Given the description of an element on the screen output the (x, y) to click on. 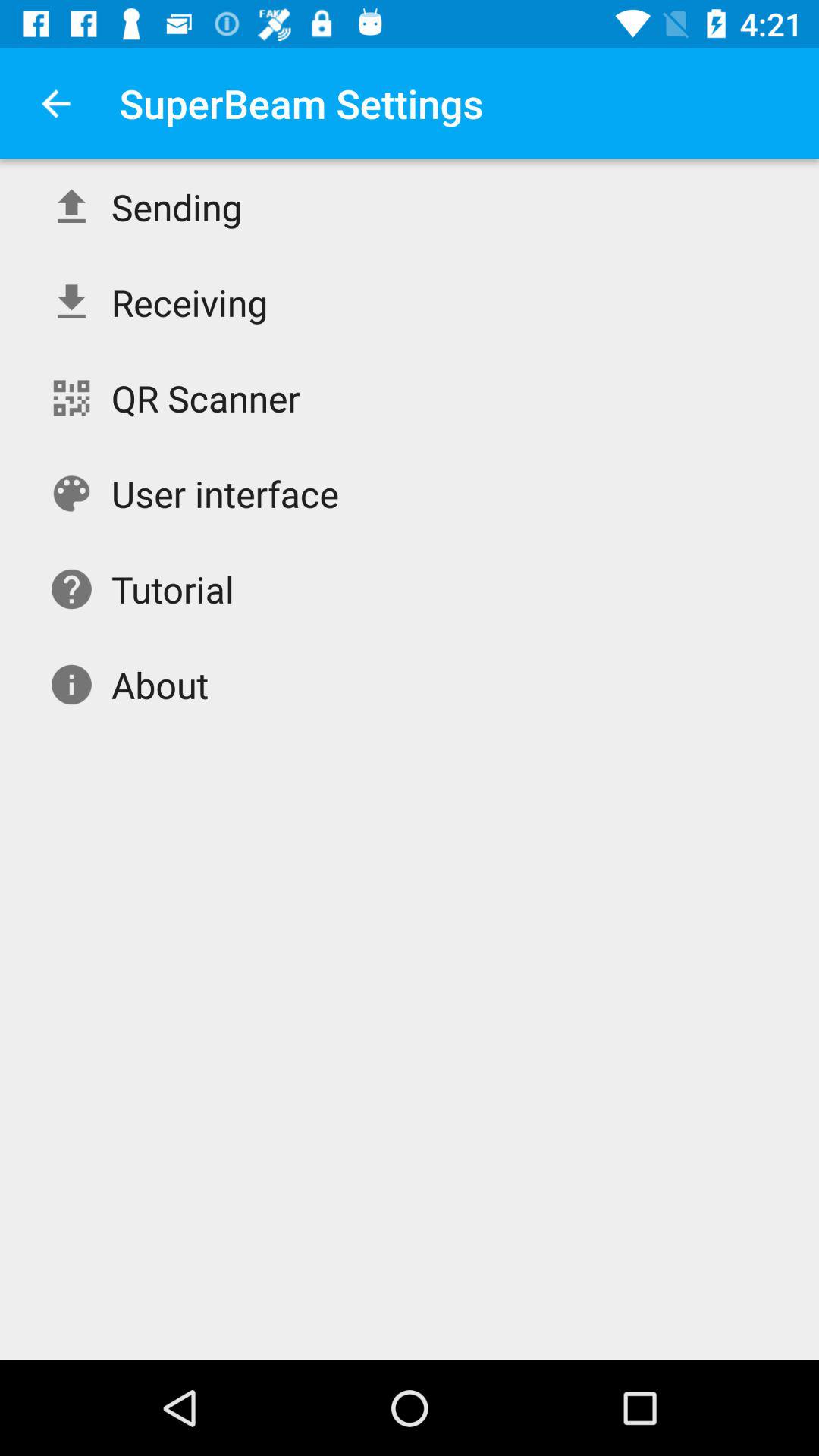
choose app next to the superbeam settings (55, 103)
